Given the description of an element on the screen output the (x, y) to click on. 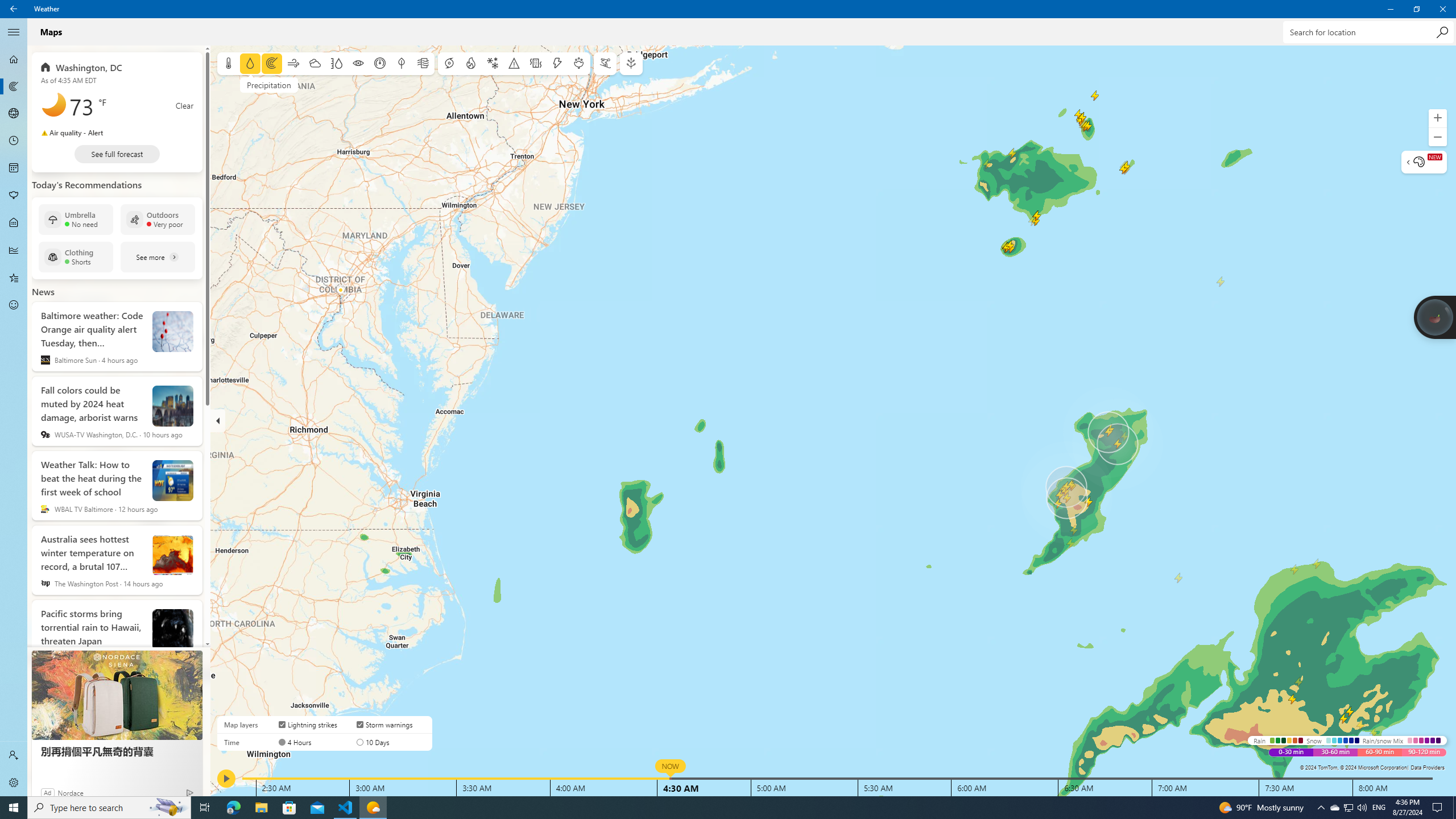
Type here to search (108, 807)
Visual Studio Code - 1 running window (345, 807)
Forecast - Not Selected (13, 58)
Send Feedback - Not Selected (13, 304)
Minimize Weather (1390, 9)
Restore Weather (1416, 9)
Sign in (1347, 807)
Maps - Not Selected (13, 755)
Life - Not Selected (13, 85)
Send Feedback - Not Selected (13, 222)
Life - Not Selected (13, 304)
Close Weather (13, 222)
Monthly Forecast - Not Selected (1442, 9)
Tray Input Indicator - English (United States) (13, 167)
